Given the description of an element on the screen output the (x, y) to click on. 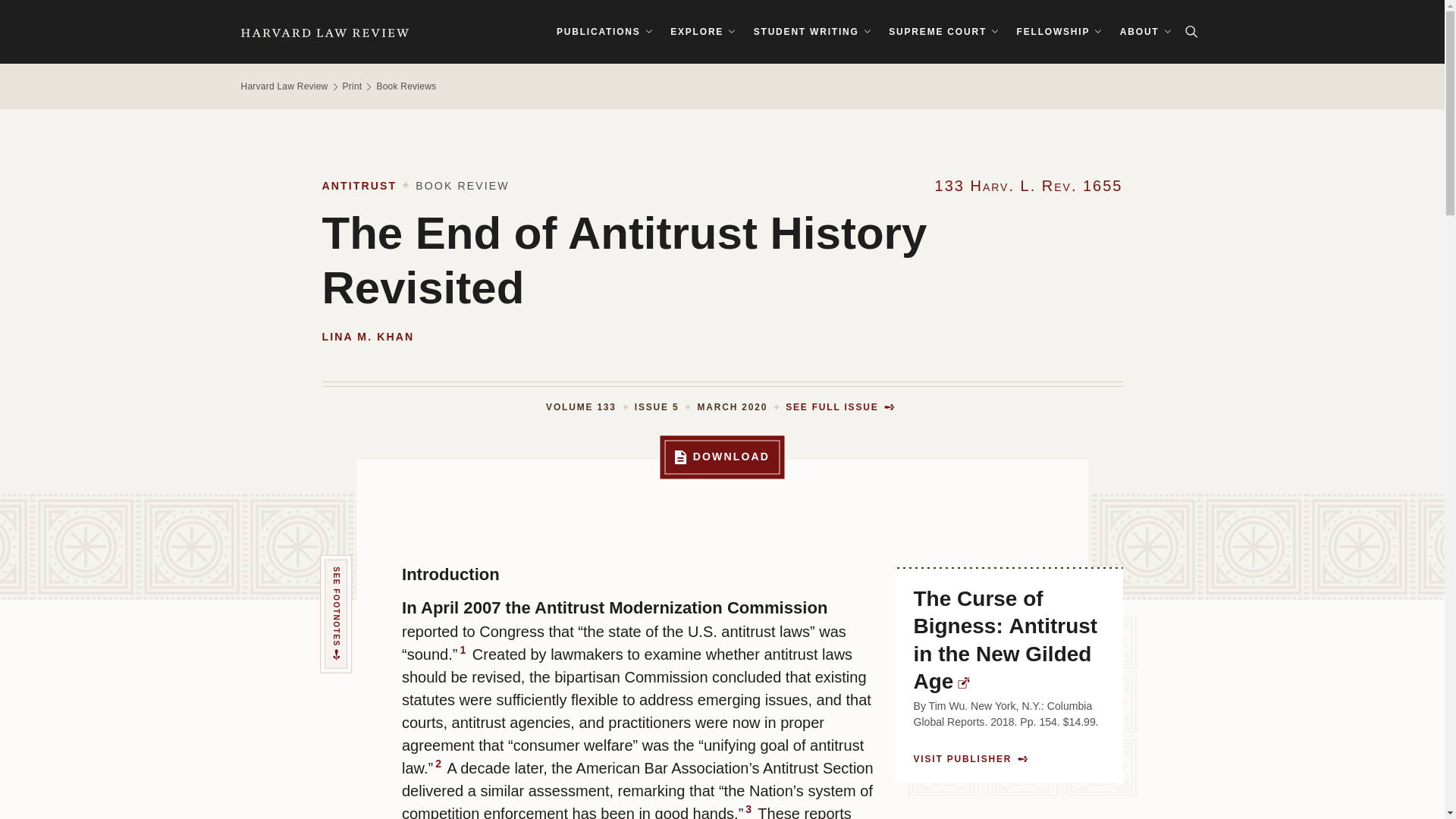
ANTITRUST (358, 185)
FELLOWSHIP (1059, 31)
Print (352, 85)
PUBLICATIONS (604, 31)
STUDENT WRITING (811, 31)
Book Reviews (405, 85)
Search site (1190, 31)
LINA M. KHAN (367, 336)
Harvard Law Review (325, 31)
